Given the description of an element on the screen output the (x, y) to click on. 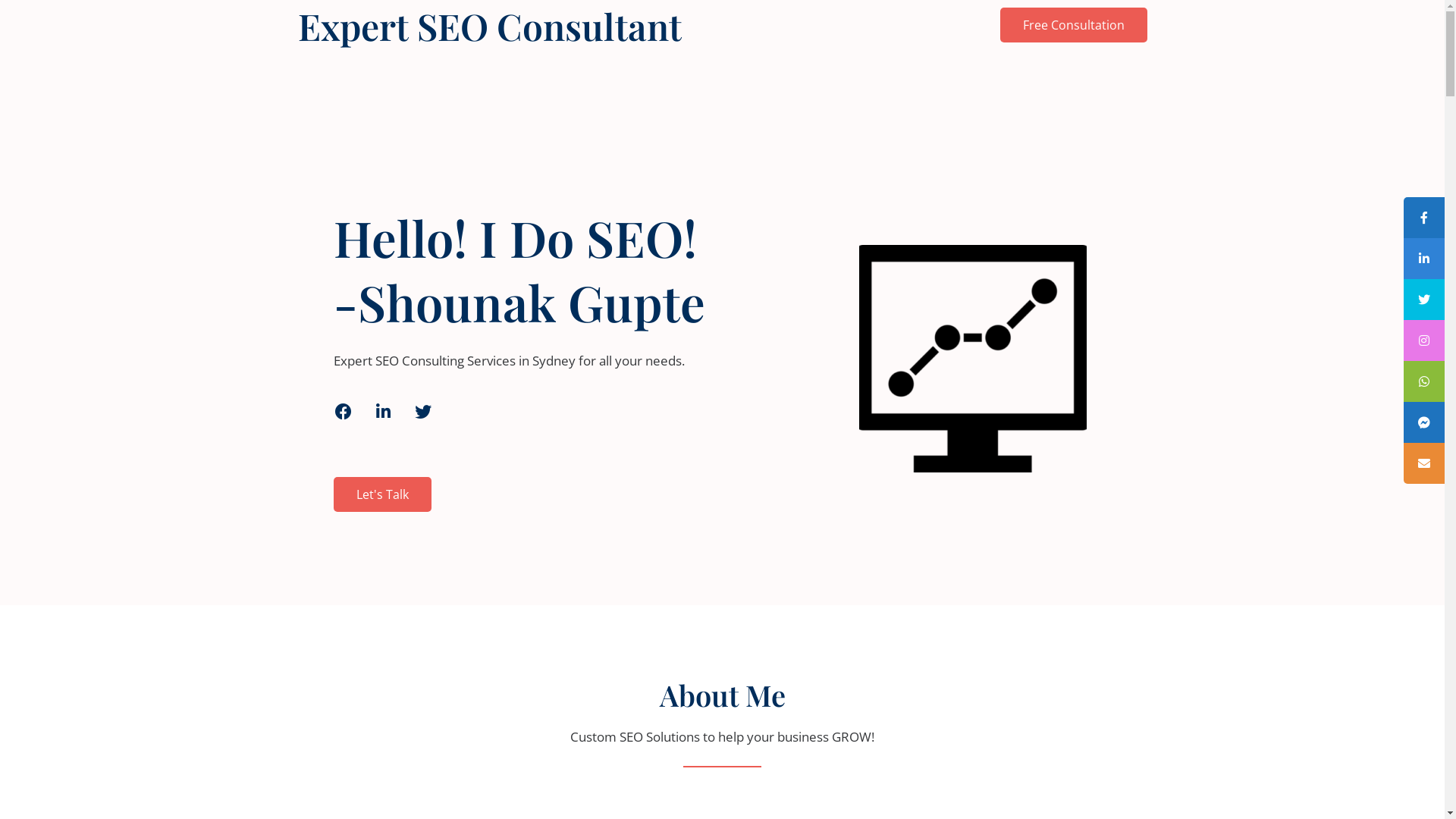
Expert SEO Consultant Element type: text (505, 25)
Free Consultation Element type: text (1072, 24)
Let's Talk Element type: text (382, 493)
